Given the description of an element on the screen output the (x, y) to click on. 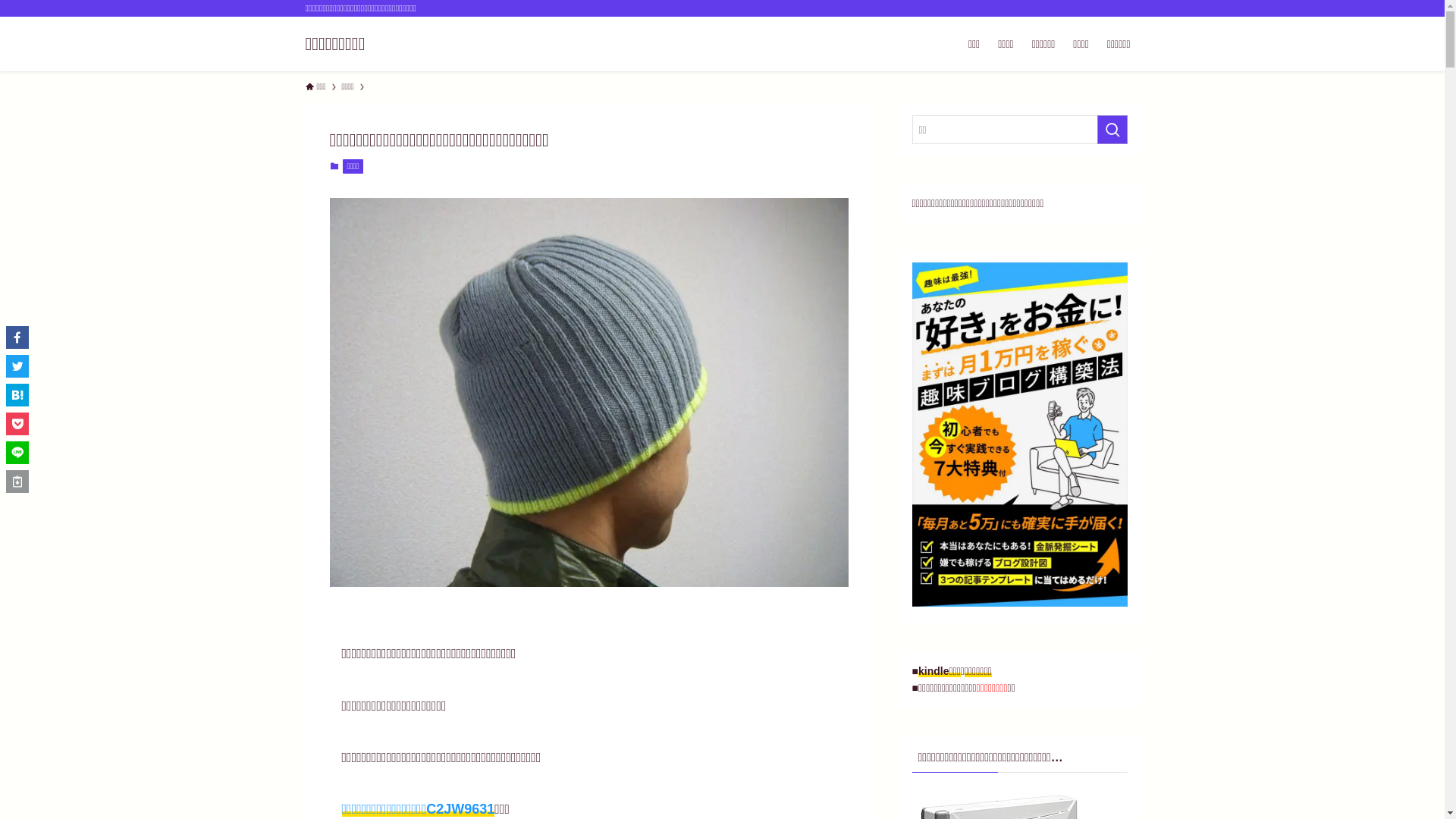
search Element type: text (1111, 129)
search Element type: text (921, 421)
